Given the description of an element on the screen output the (x, y) to click on. 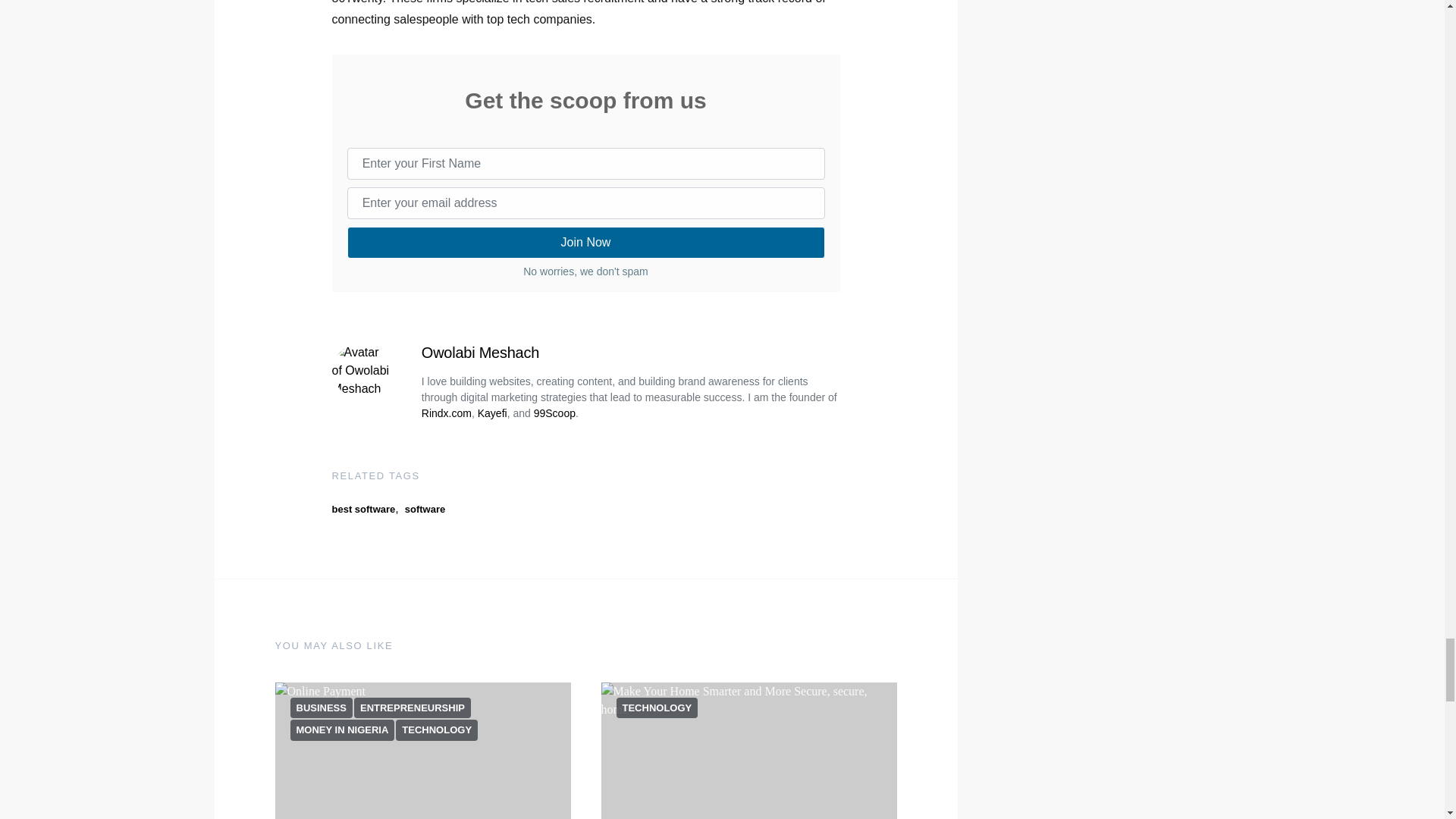
Join Now (586, 242)
Software Sales Recruiters (422, 750)
Software Sales Recruiters (747, 750)
